Given the description of an element on the screen output the (x, y) to click on. 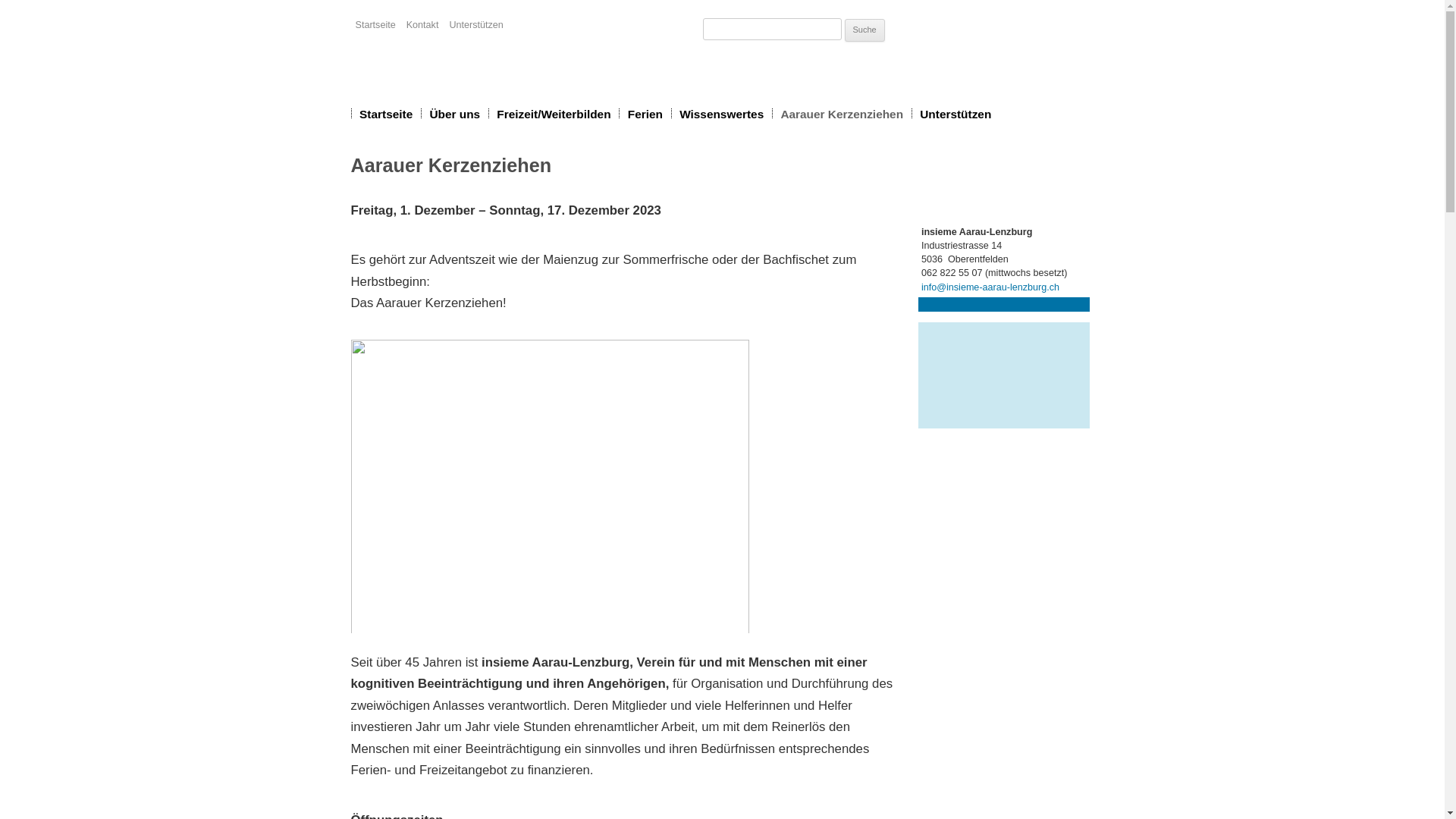
Zum Inhalt springen Element type: text (674, 101)
Startseite Element type: text (385, 113)
Kontakt Element type: text (423, 25)
info@insieme-aarau-lenzburg.ch Element type: text (990, 287)
Ferien Element type: text (645, 113)
Startseite Element type: text (375, 25)
Aarauer Kerzenziehen Element type: text (841, 113)
Freizeit/Weiterbilden Element type: text (553, 113)
Suche Element type: text (864, 29)
Wissenswertes Element type: text (721, 113)
